Given the description of an element on the screen output the (x, y) to click on. 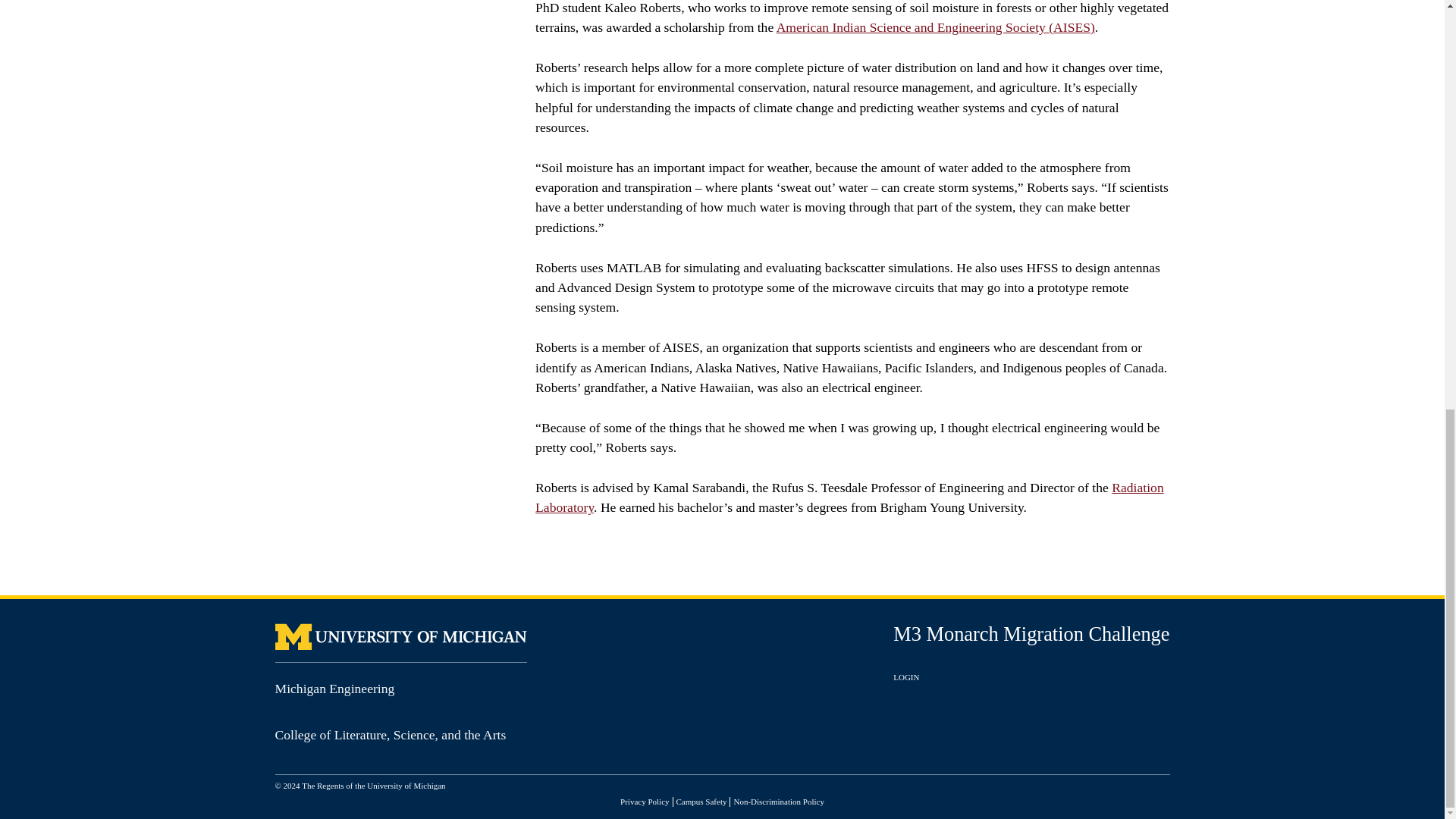
Michigan Engineering (334, 688)
Radiation Laboratory (849, 497)
College of Literature, Science, and the Arts (390, 734)
Privacy Policy (644, 800)
The Regents of the University of Michigan (373, 785)
LOGIN (905, 676)
M3 Monarch Migration Challenge (1031, 633)
Campus Safety (701, 800)
Non-Discrimination Policy (778, 800)
